Given the description of an element on the screen output the (x, y) to click on. 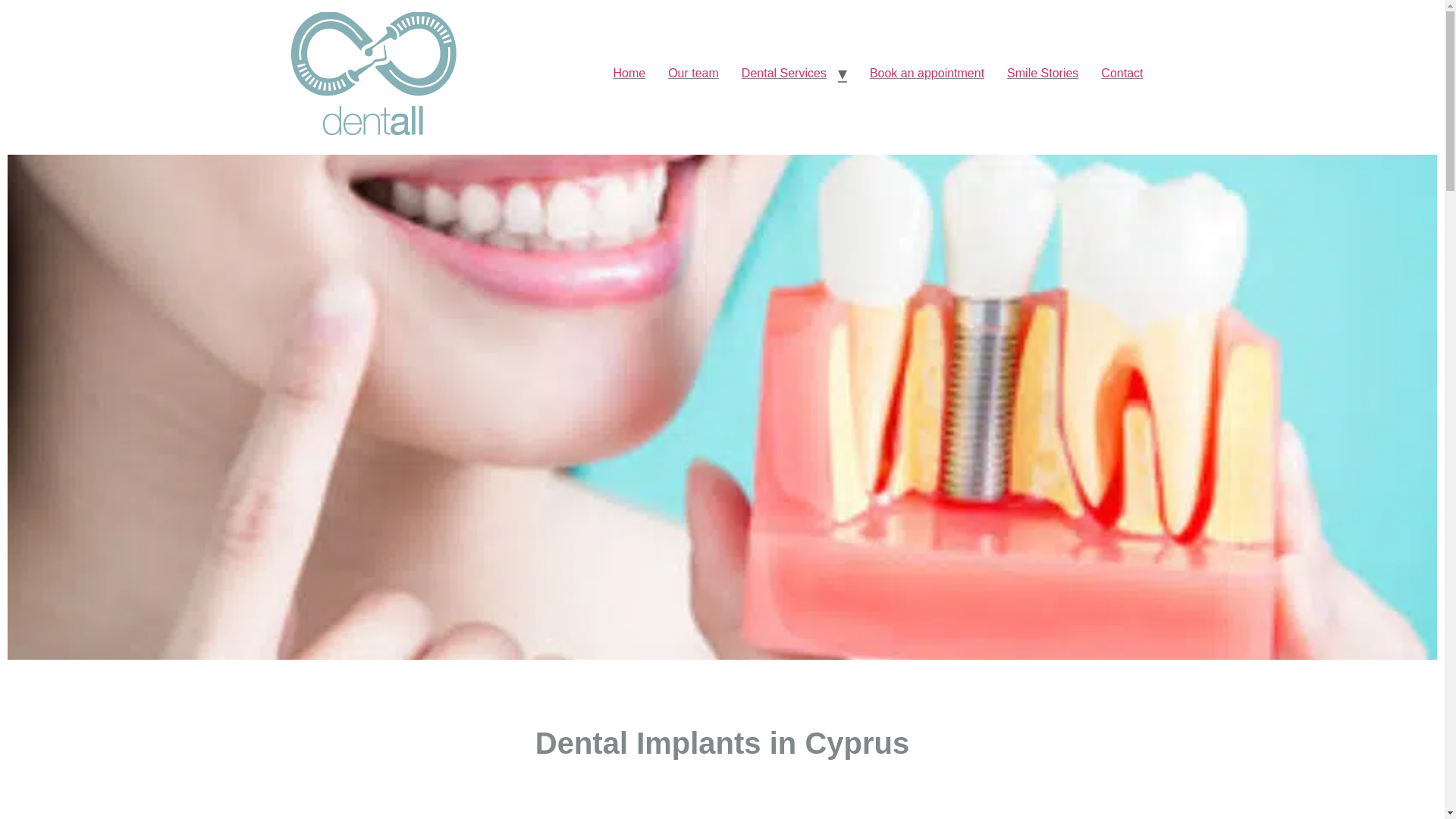
Home (628, 73)
Our team (693, 73)
Dental Services (784, 73)
Smile Stories (1042, 73)
Contact (1121, 73)
Book an appointment (927, 73)
